Given the description of an element on the screen output the (x, y) to click on. 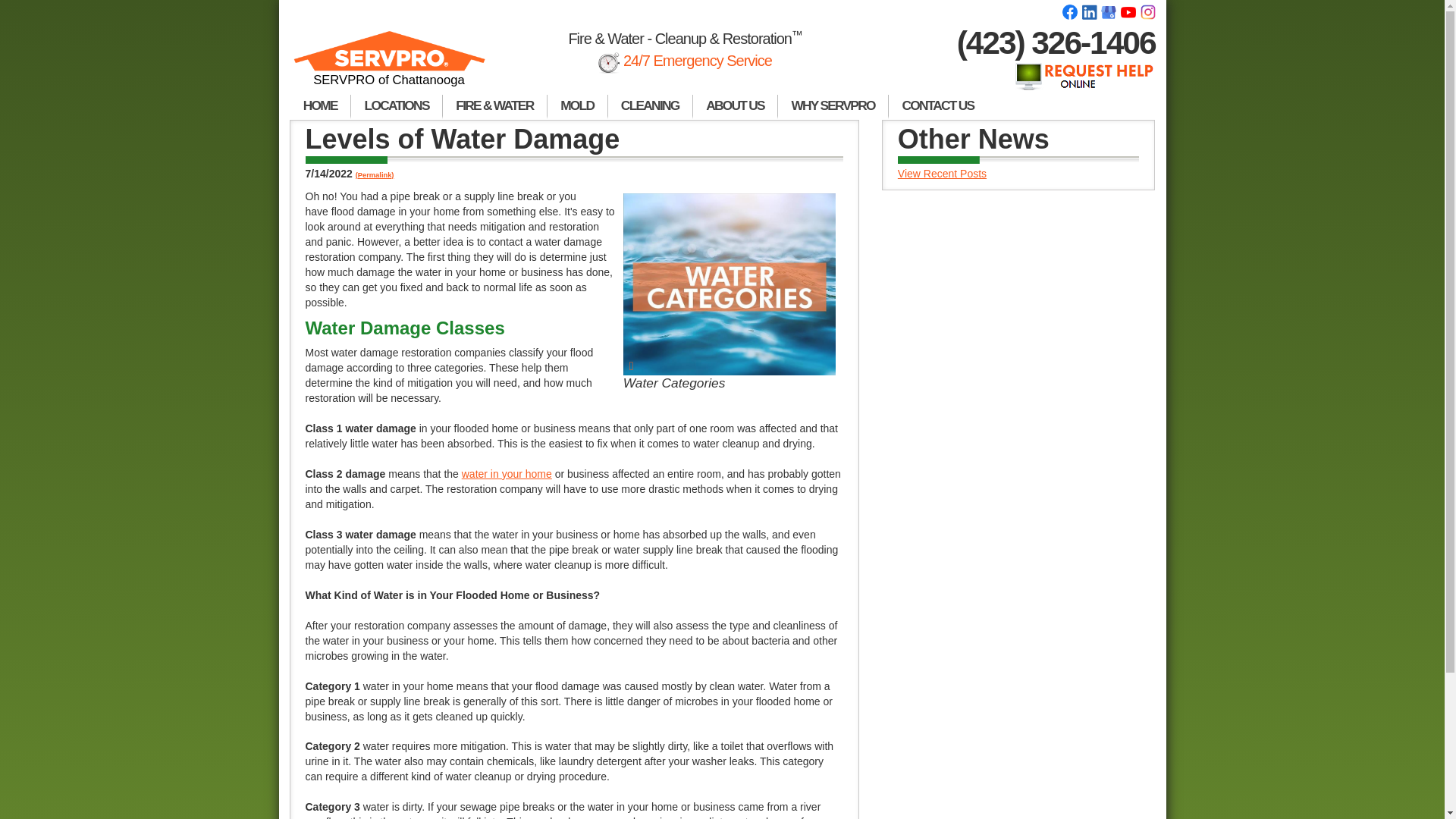
LOCATIONS (396, 106)
SERVPRO of Chattanooga (389, 64)
CLEANING (650, 106)
MOLD (577, 106)
HOME (319, 106)
